Given the description of an element on the screen output the (x, y) to click on. 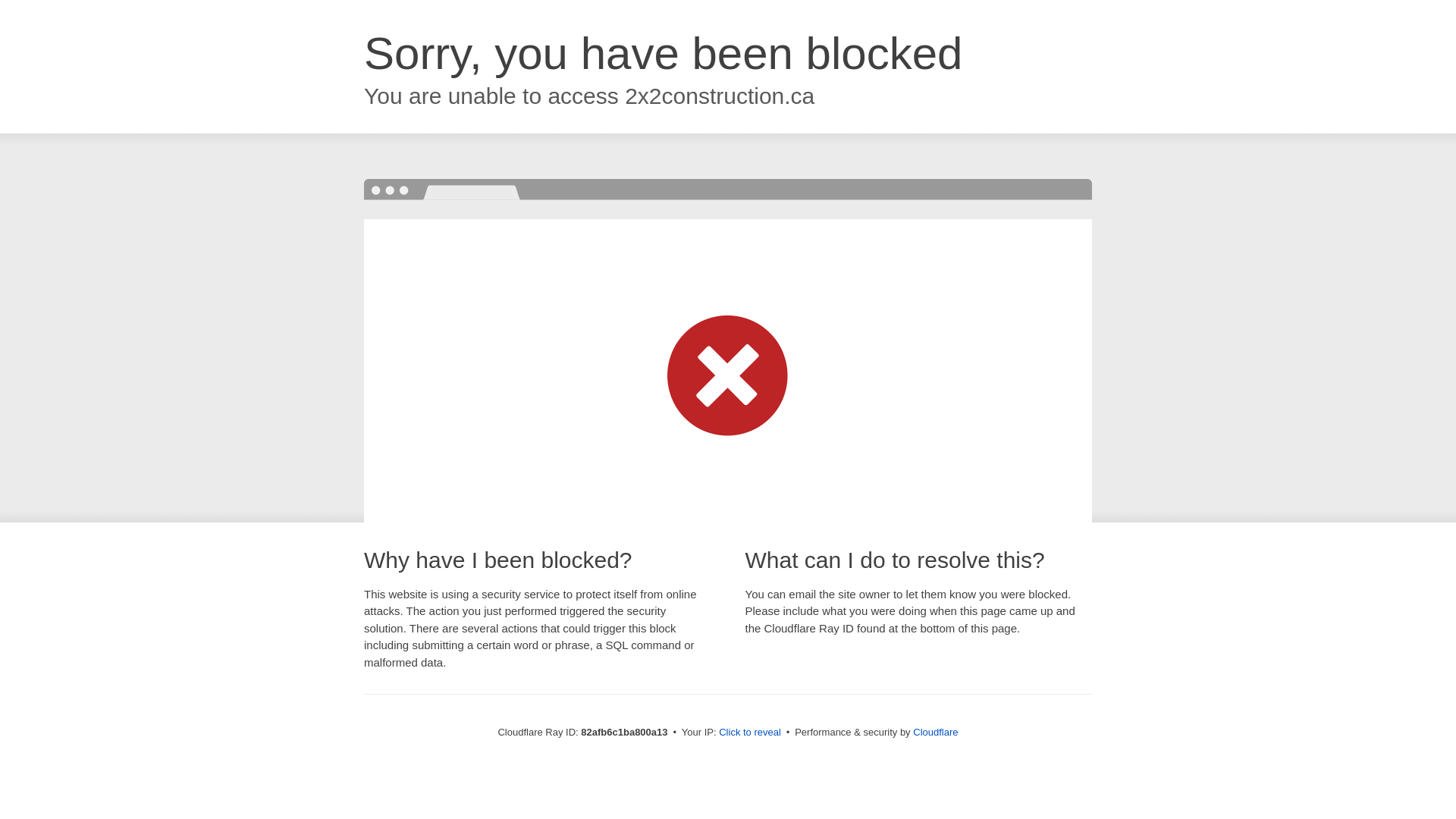
Click to reveal Element type: text (749, 732)
Cloudflare Element type: text (935, 731)
